Given the description of an element on the screen output the (x, y) to click on. 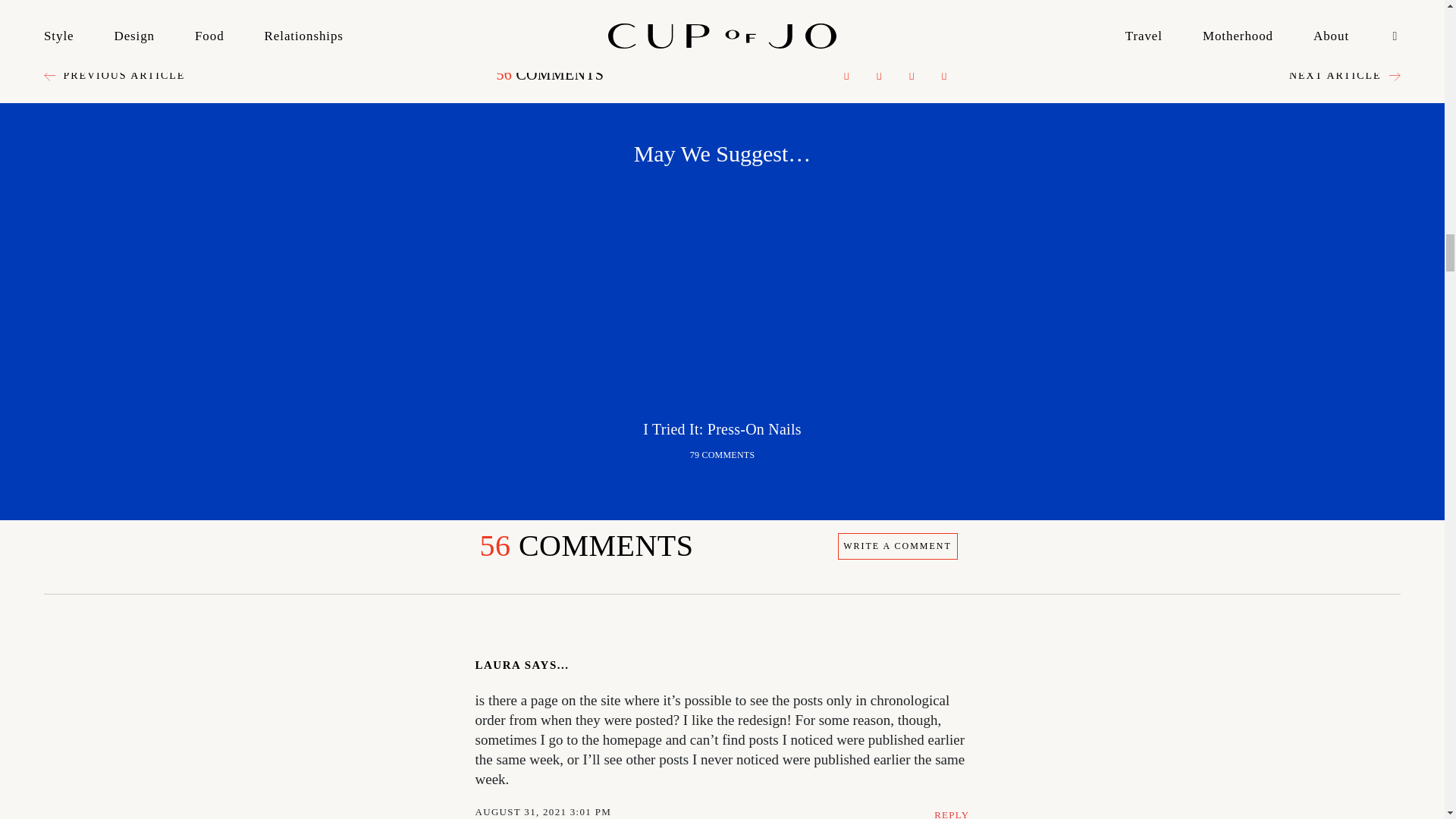
I Tried It: Press-On Nails (722, 429)
August 31, 2021 3:01 pm (546, 811)
56 (495, 545)
I Tried It: Press-On Nails (722, 297)
